Given the description of an element on the screen output the (x, y) to click on. 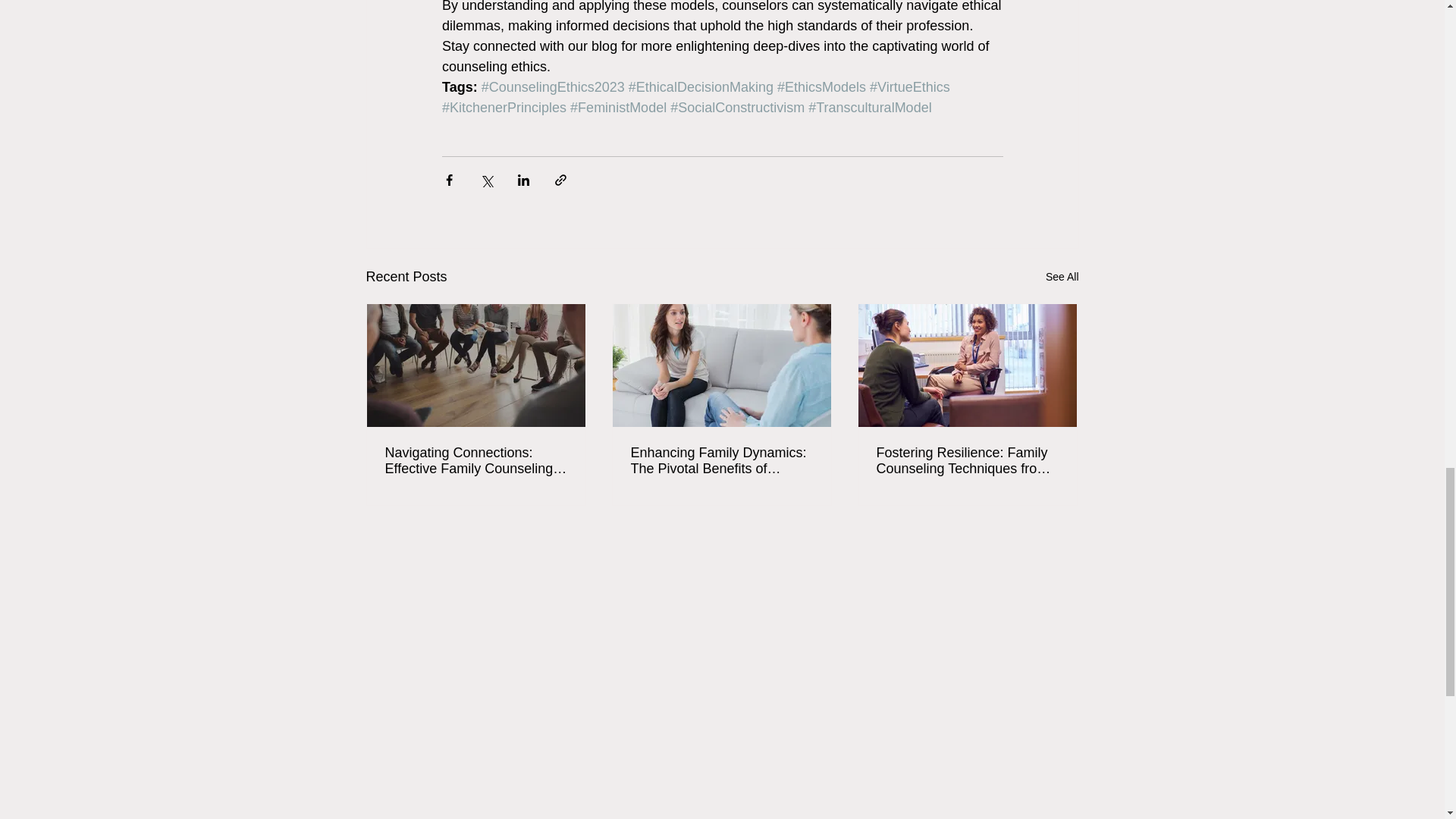
See All (1061, 277)
